Given the description of an element on the screen output the (x, y) to click on. 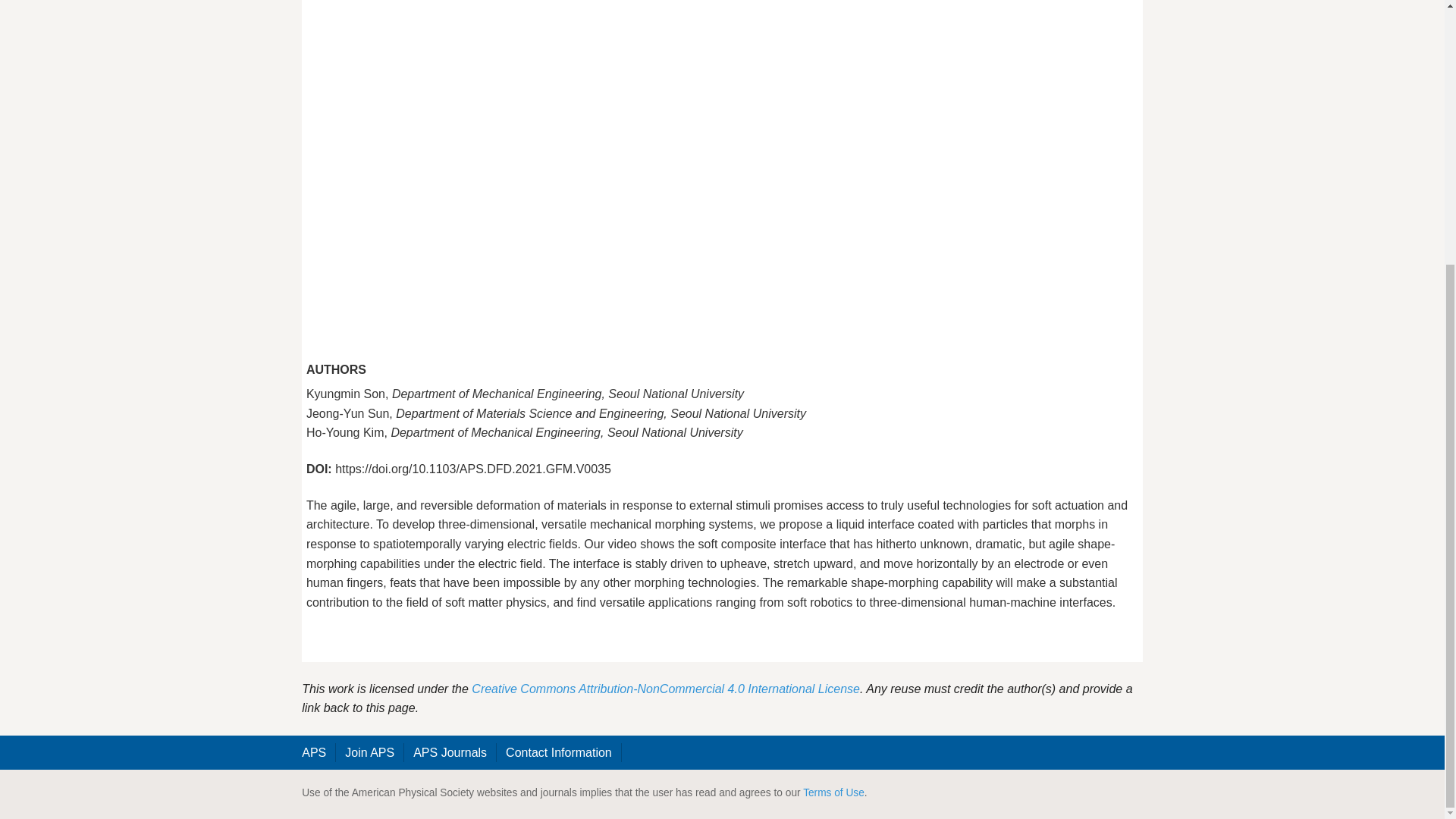
APS Journals (449, 752)
Join APS (369, 752)
Terms of Use (833, 792)
Contact Information (558, 752)
APS (313, 752)
